Given the description of an element on the screen output the (x, y) to click on. 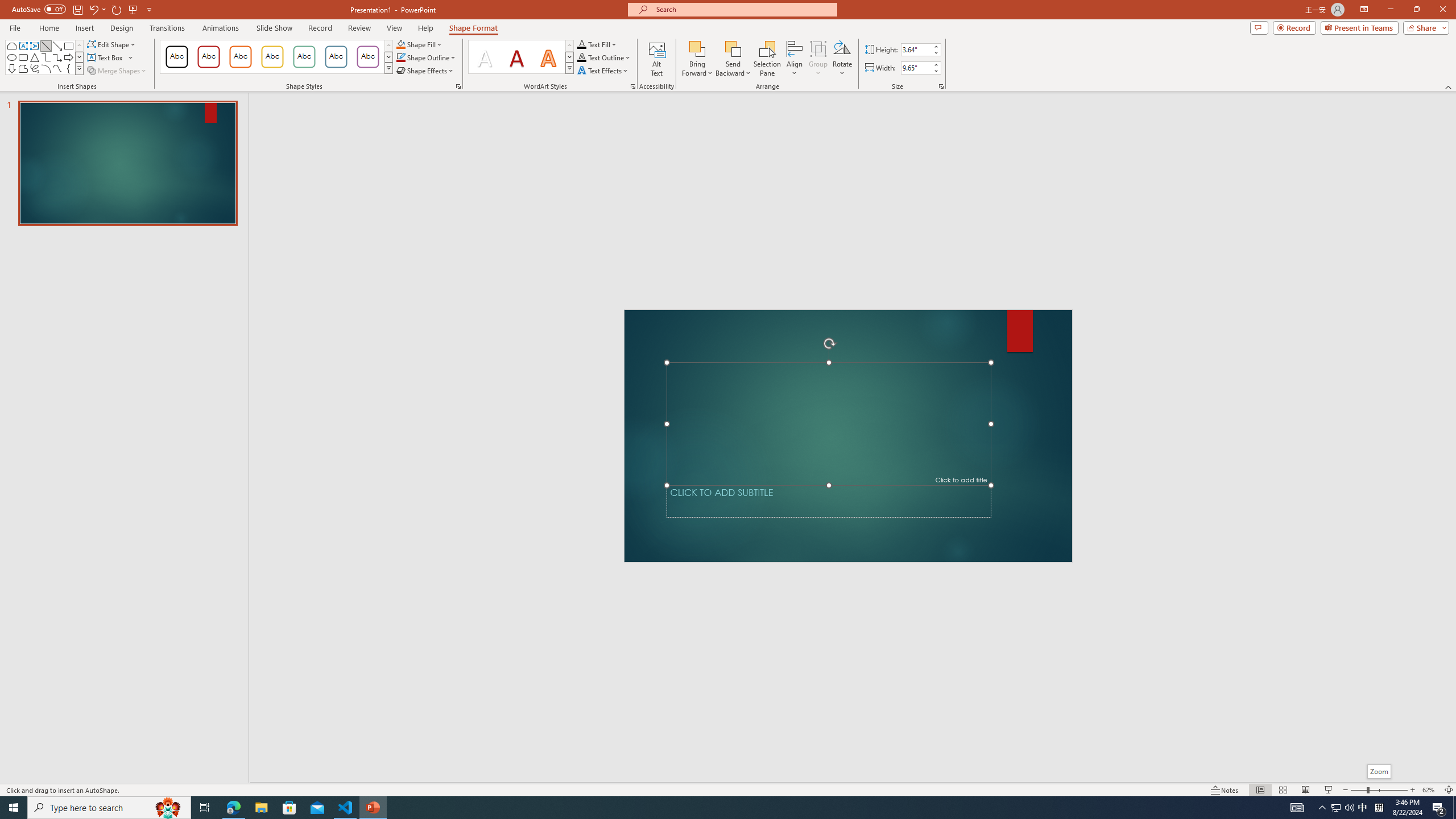
Send Backward (733, 48)
Class: MsoCommandBar (728, 789)
Rotate (841, 58)
Alt Text (656, 58)
More (935, 64)
Microsoft search (742, 9)
Oval (11, 57)
Notes  (1225, 790)
Subtitle TextBox (828, 500)
Rectangle: Rounded Corners (23, 57)
